Given the description of an element on the screen output the (x, y) to click on. 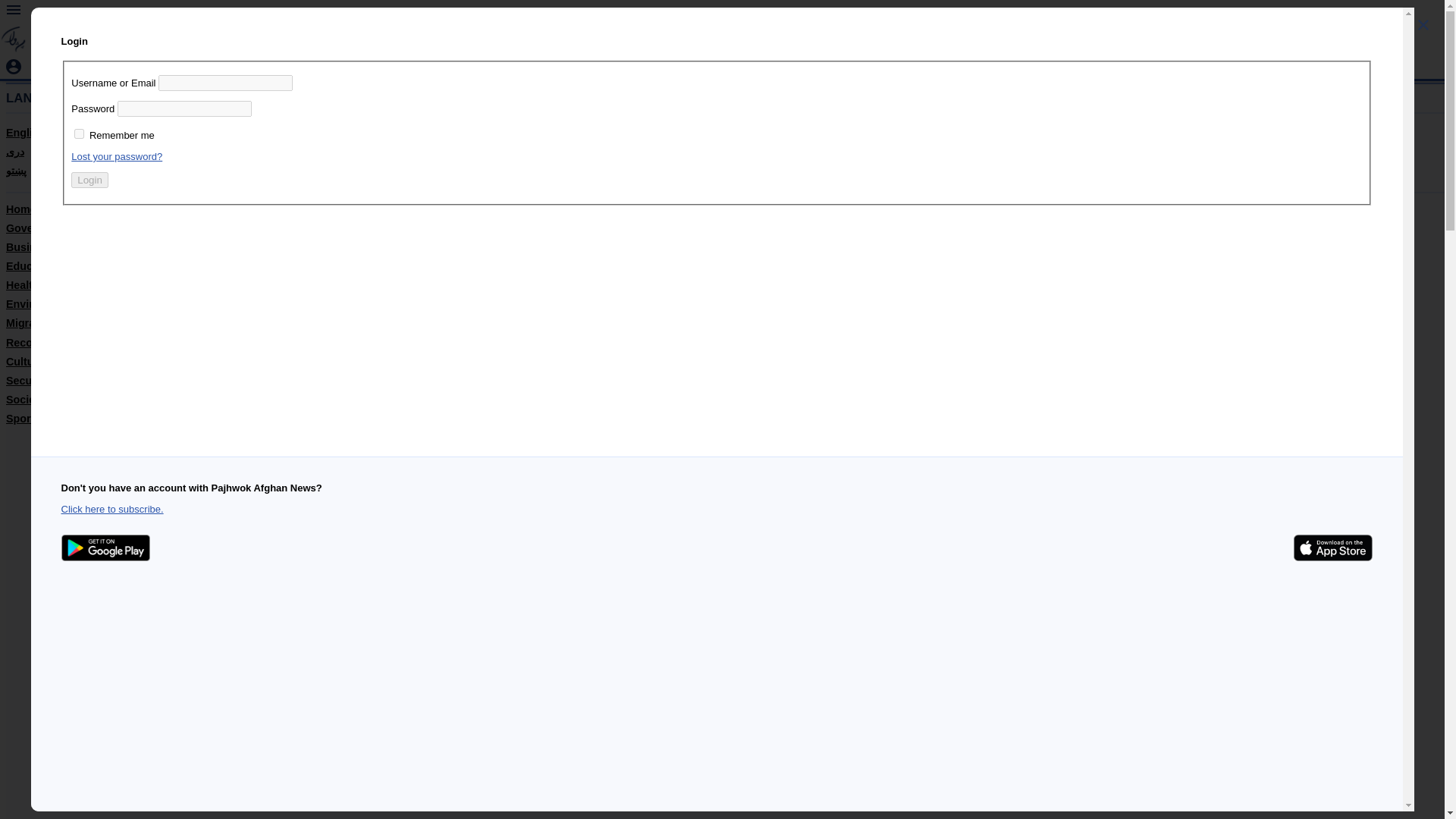
Home (20, 209)
Culture (24, 361)
About Us (367, 15)
Sports (22, 418)
English (25, 132)
Login (89, 179)
Society (25, 399)
Education (31, 265)
Migration (30, 322)
Click here to subscribe. (112, 509)
Security (26, 380)
Environment (38, 304)
Health (22, 285)
Factcheck (31, 15)
Afghanistan Mines (211, 15)
